Given the description of an element on the screen output the (x, y) to click on. 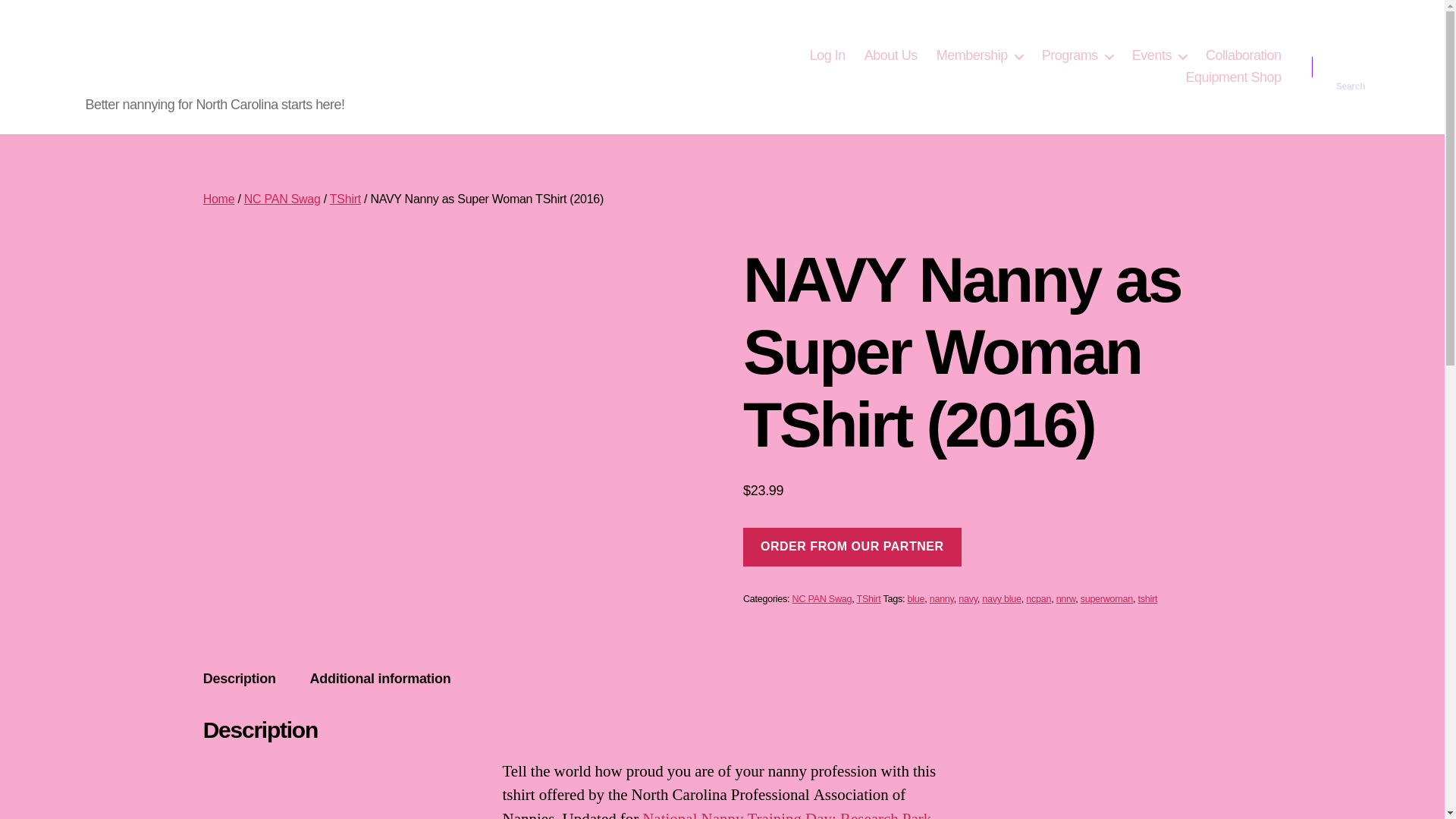
Programs (1077, 55)
Equipment Shop (1233, 77)
Membership (979, 55)
Log In (827, 55)
Collaboration (1243, 55)
Events (1159, 55)
About Us (890, 55)
Search (1350, 66)
